Given the description of an element on the screen output the (x, y) to click on. 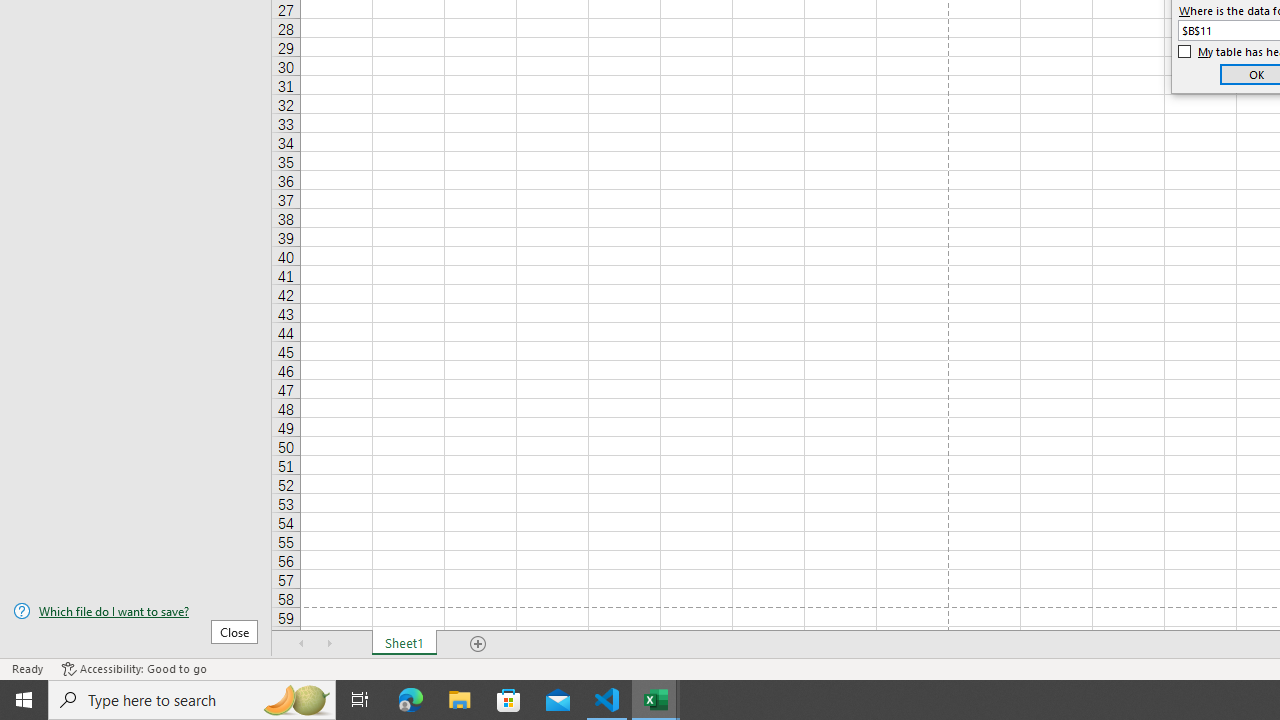
Which file do I want to save? (136, 611)
